Given the description of an element on the screen output the (x, y) to click on. 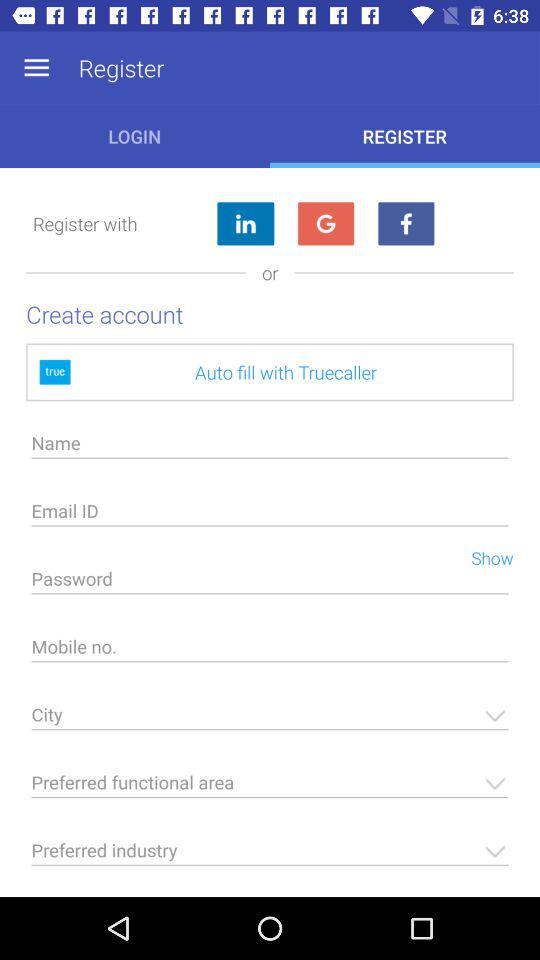
press icon below the auto fill with item (269, 448)
